Given the description of an element on the screen output the (x, y) to click on. 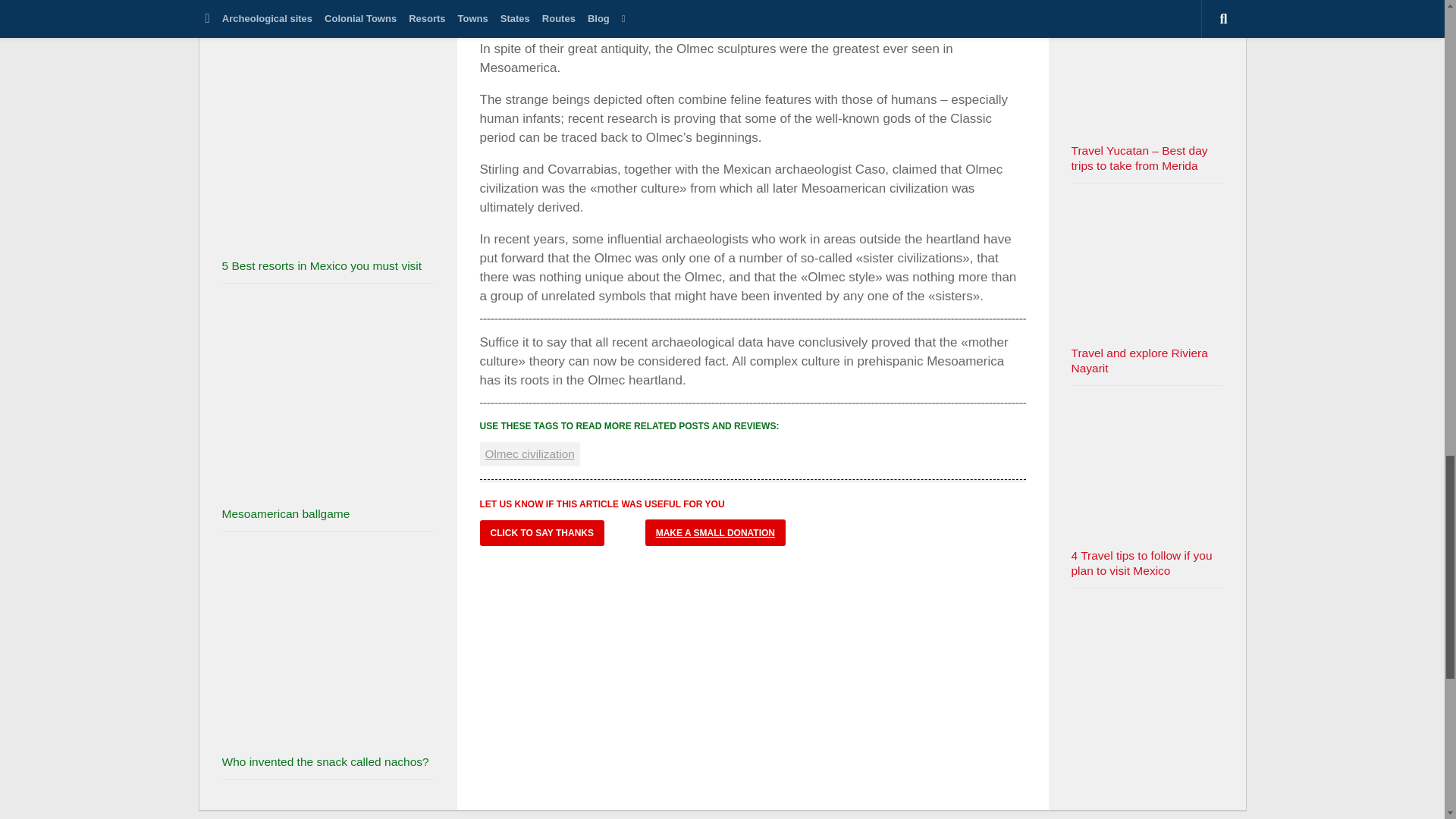
Click to say thanks (541, 533)
MAKE A SMALL DONATION (715, 532)
Olmec civilization (529, 454)
Click to say thanks (541, 533)
